Given the description of an element on the screen output the (x, y) to click on. 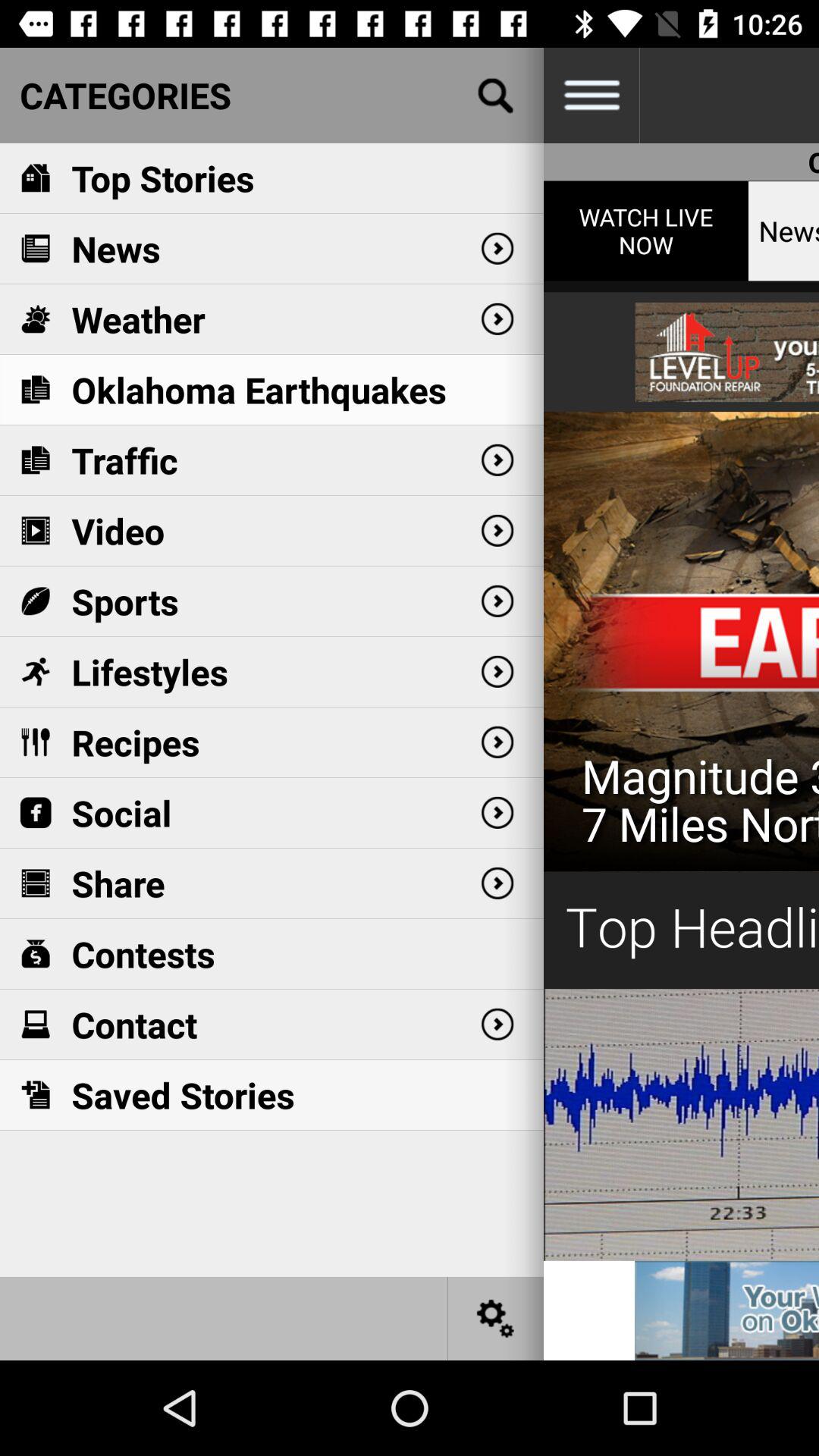
search (495, 95)
